Given the description of an element on the screen output the (x, y) to click on. 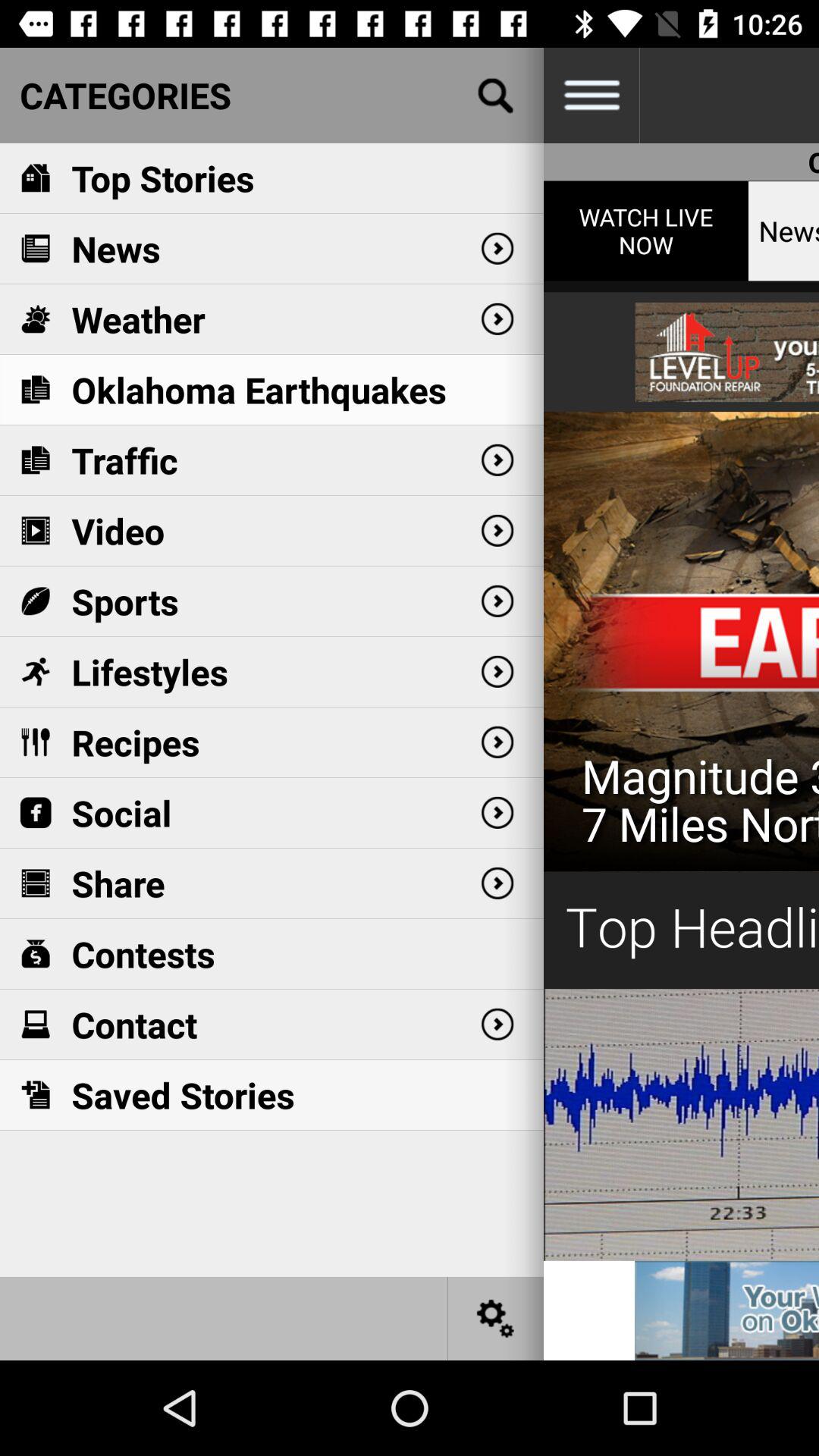
search (495, 95)
